Given the description of an element on the screen output the (x, y) to click on. 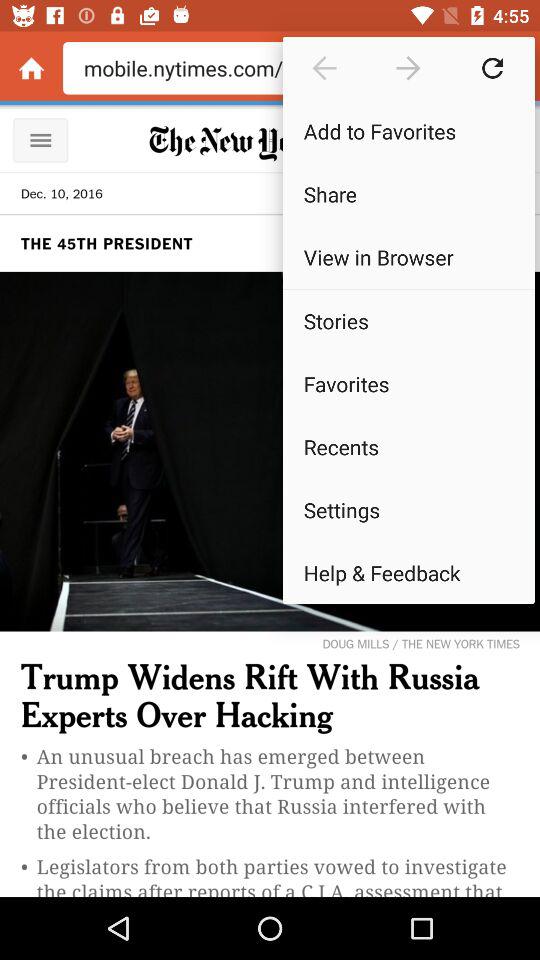
open item above stories item (408, 288)
